Given the description of an element on the screen output the (x, y) to click on. 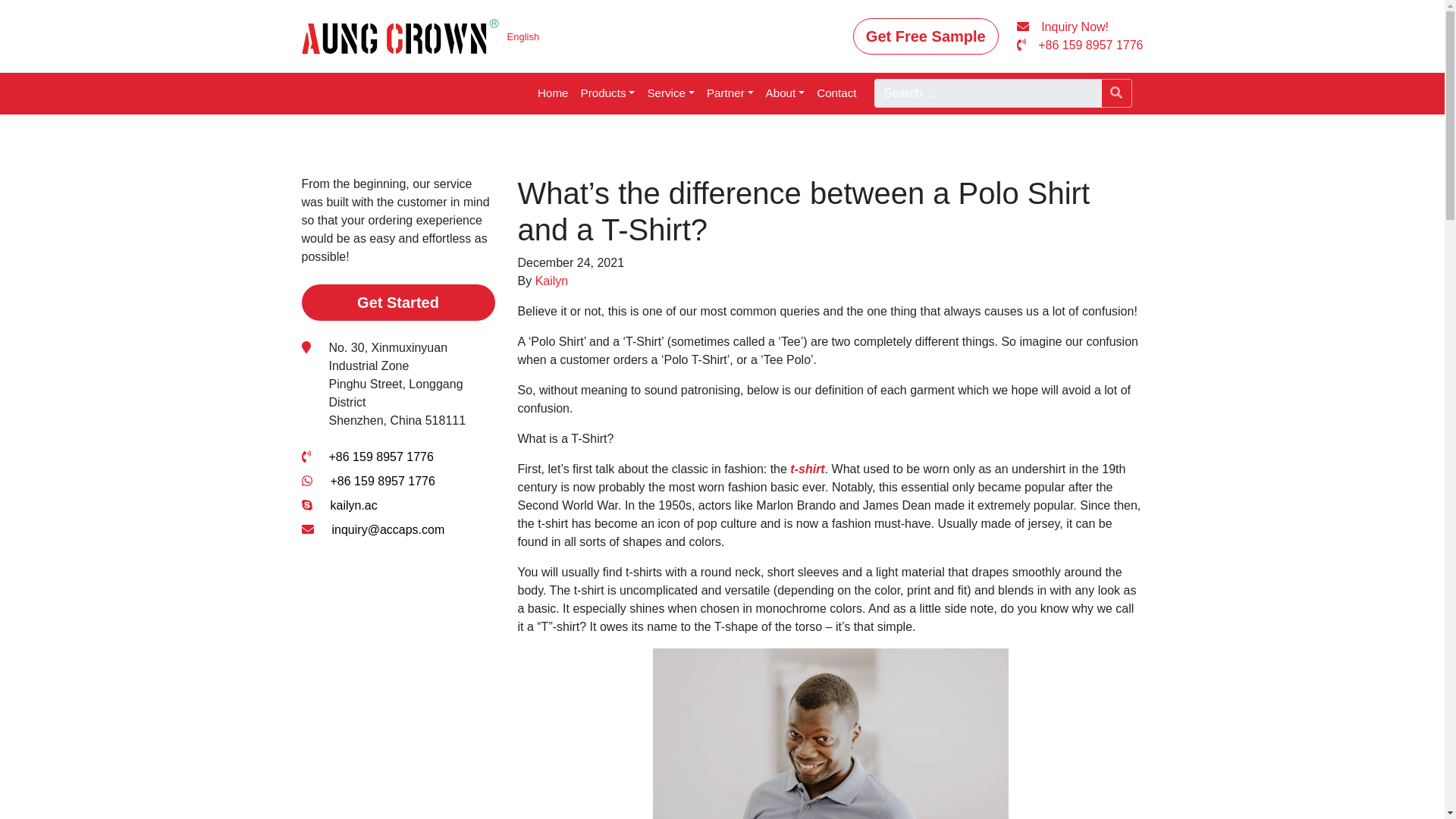
Inquiry Now! (1062, 26)
Home (553, 93)
About (785, 93)
Service (670, 93)
Partner (730, 93)
Get Free Sample (925, 36)
English (523, 36)
Service (670, 93)
Home (553, 93)
Partner (730, 93)
Products (608, 93)
Products (608, 93)
